Given the description of an element on the screen output the (x, y) to click on. 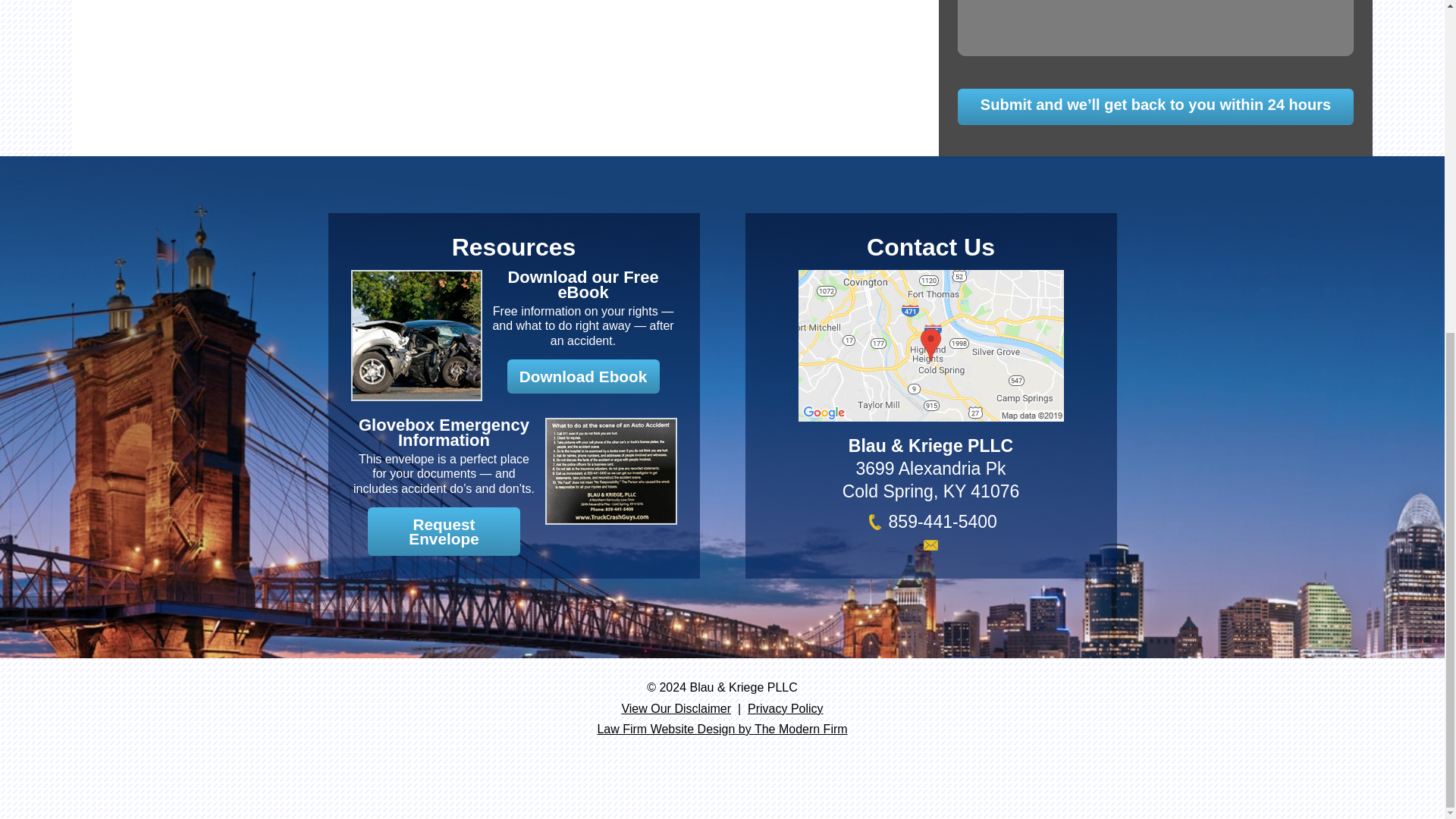
Click to view this map on Google Maps (929, 415)
Request Envelope (443, 531)
Download our Free eBook (582, 284)
Disclaimer (675, 707)
Download Ebook (582, 376)
View Our Disclaimer (675, 707)
Privacy Policy (786, 707)
Law Firm Website Design (721, 728)
Download eBook (582, 284)
Glovebox Emergency Information (443, 432)
